Given the description of an element on the screen output the (x, y) to click on. 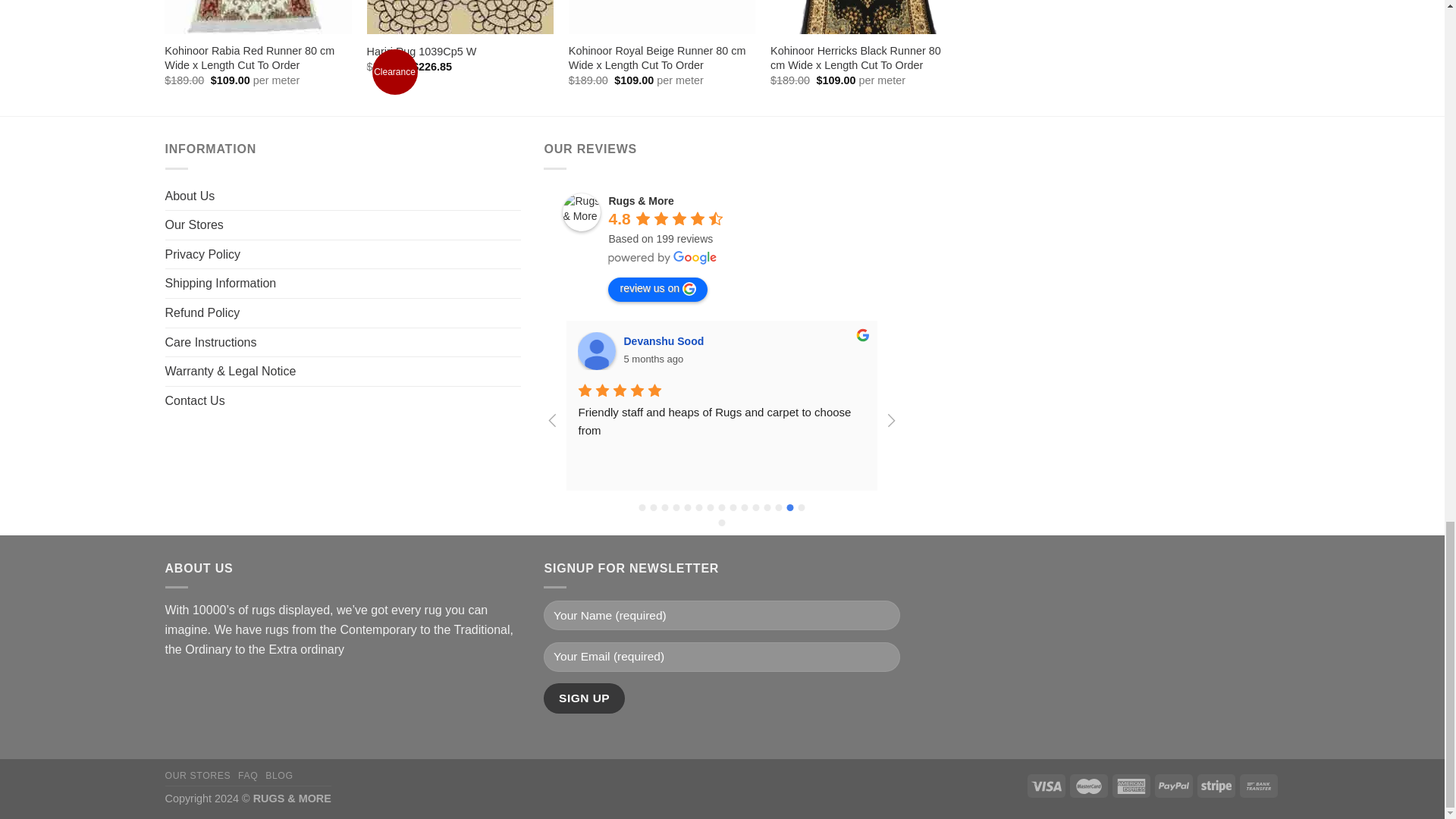
Sign Up (583, 697)
